Given the description of an element on the screen output the (x, y) to click on. 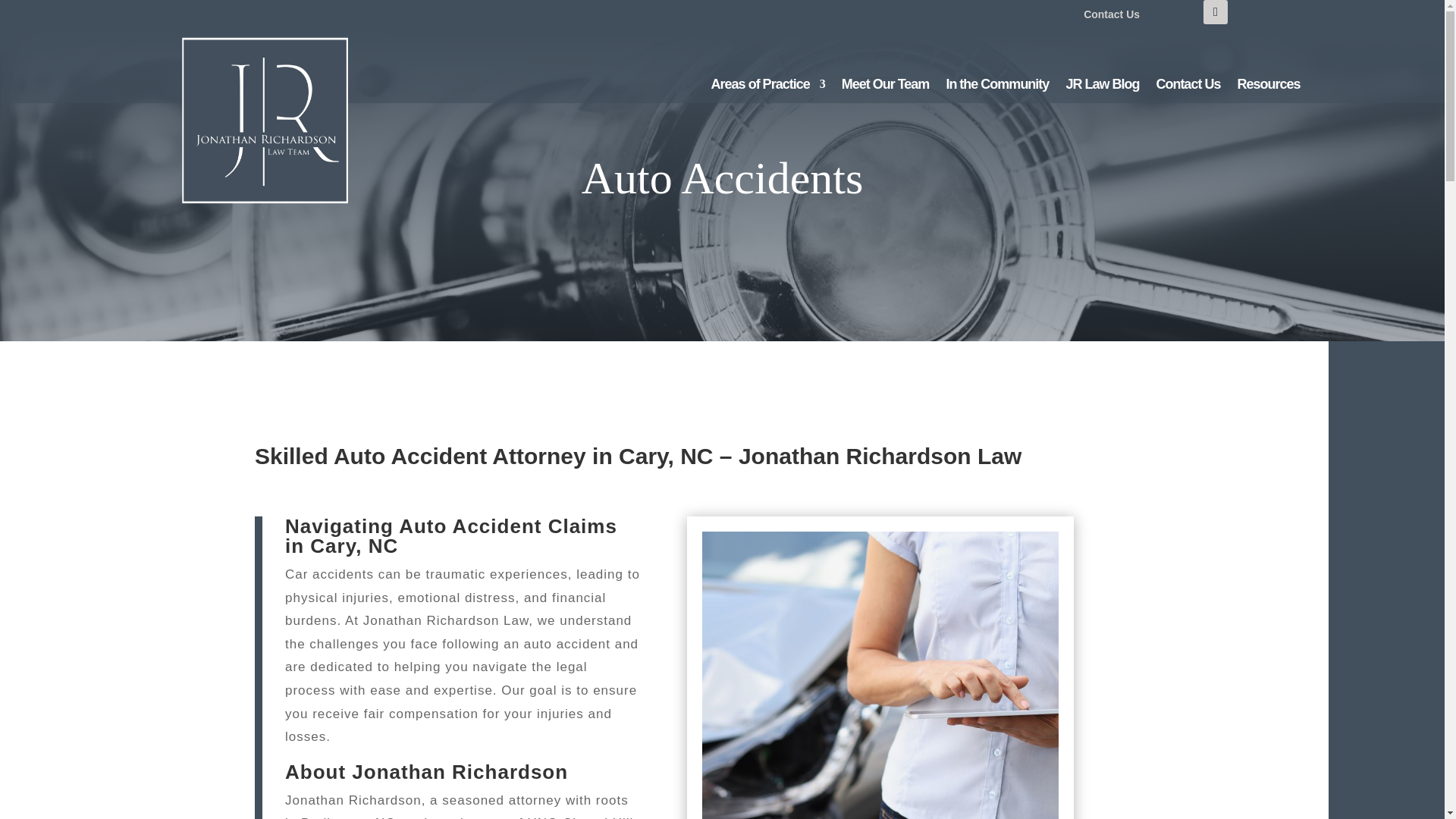
Contact Us (1111, 14)
In the Community (996, 86)
Resources (1268, 86)
JR Law Blog (1101, 86)
Contact Us (1188, 86)
JR law team new logo v6 (302, 158)
Untitled design - 2024-02-14T174450.554 (879, 675)
Follow on Facebook (1215, 12)
Areas of Practice (768, 86)
Meet Our Team (885, 86)
